Given the description of an element on the screen output the (x, y) to click on. 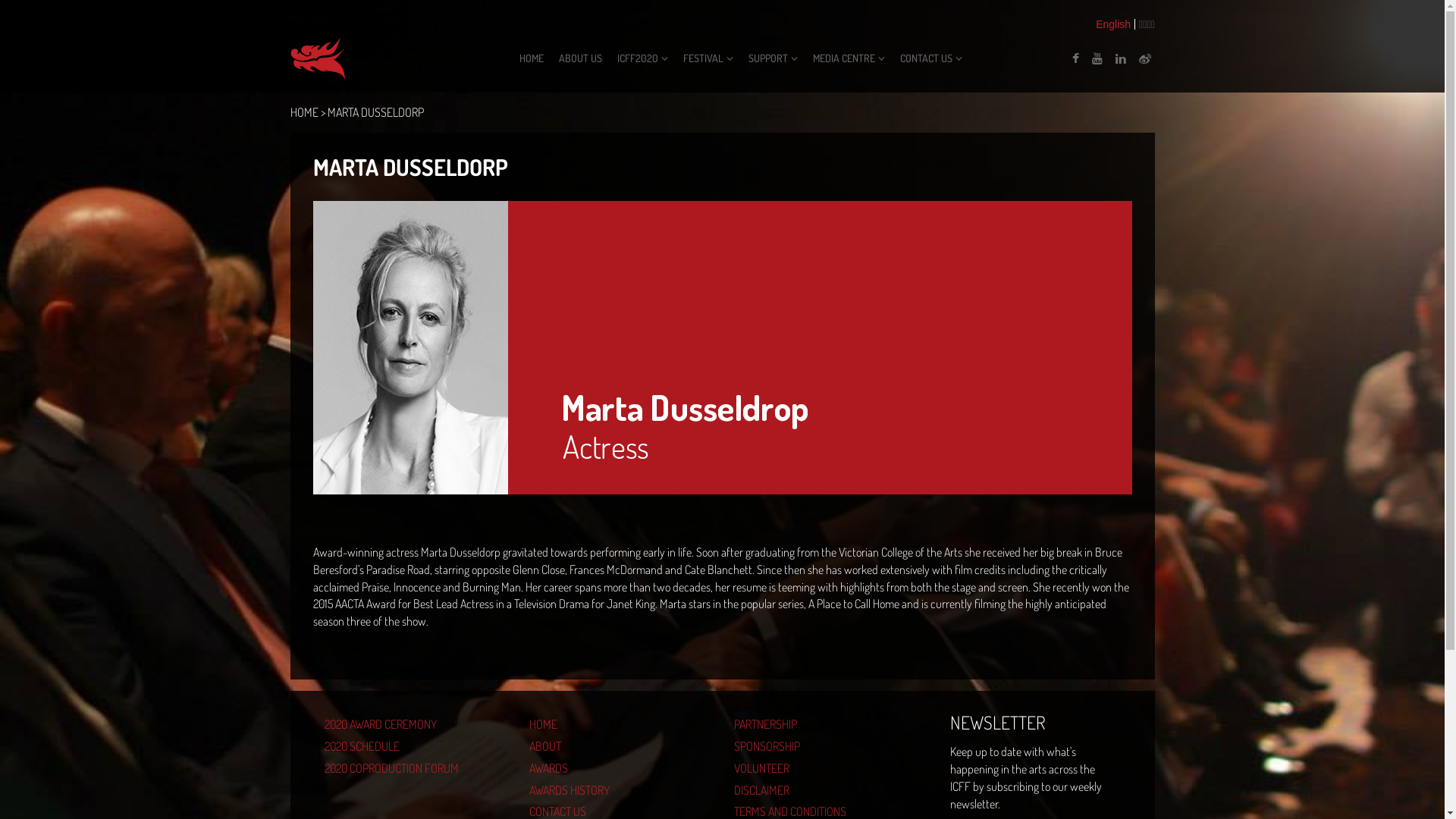
HOME Element type: text (303, 111)
CONTACT US Element type: text (930, 58)
MEDIA CENTRE Element type: text (848, 58)
SPONSORSHIP Element type: text (825, 746)
ABOUT US Element type: text (580, 58)
English Element type: text (1113, 23)
DISCLAIMER Element type: text (825, 790)
HOME Element type: text (531, 58)
PARTNERSHIP Element type: text (825, 724)
2020 AWARD CEREMONY Element type: text (415, 724)
ABOUT Element type: text (620, 746)
2020 SCHEDULE Element type: text (415, 746)
FESTIVAL Element type: text (707, 58)
2020 COPRODUCTION FORUM Element type: text (415, 768)
SUPPORT Element type: text (772, 58)
VOLUNTEER Element type: text (825, 768)
HOME Element type: text (620, 724)
AWARDS HISTORY Element type: text (620, 790)
AWARDS Element type: text (620, 768)
ICFF2020 Element type: text (642, 58)
